Given the description of an element on the screen output the (x, y) to click on. 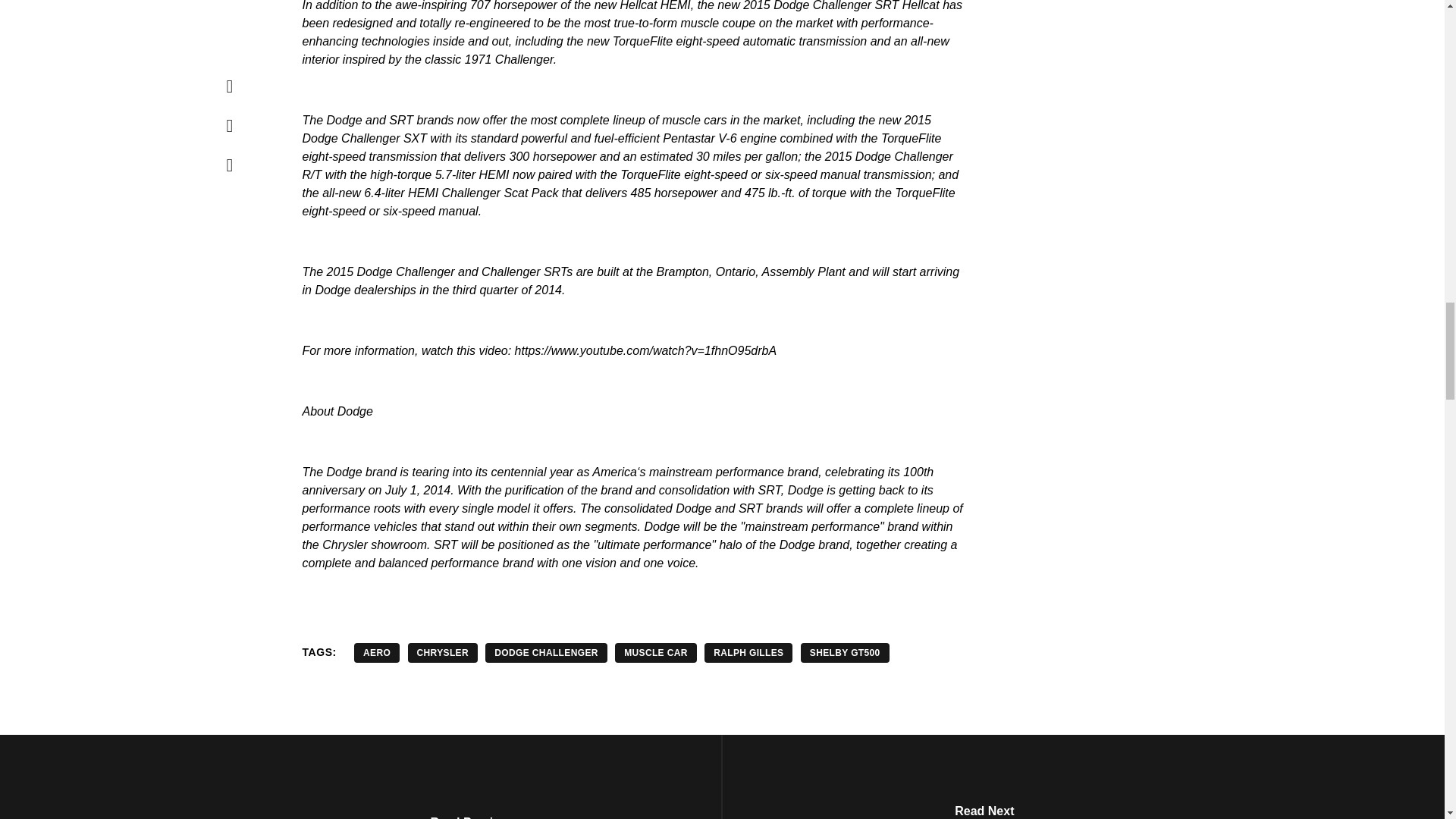
MUSCLE CAR (655, 652)
AERO (375, 652)
DODGE CHALLENGER (545, 652)
CHRYSLER (442, 652)
RALPH GILLES (748, 652)
SHELBY GT500 (844, 652)
